Given the description of an element on the screen output the (x, y) to click on. 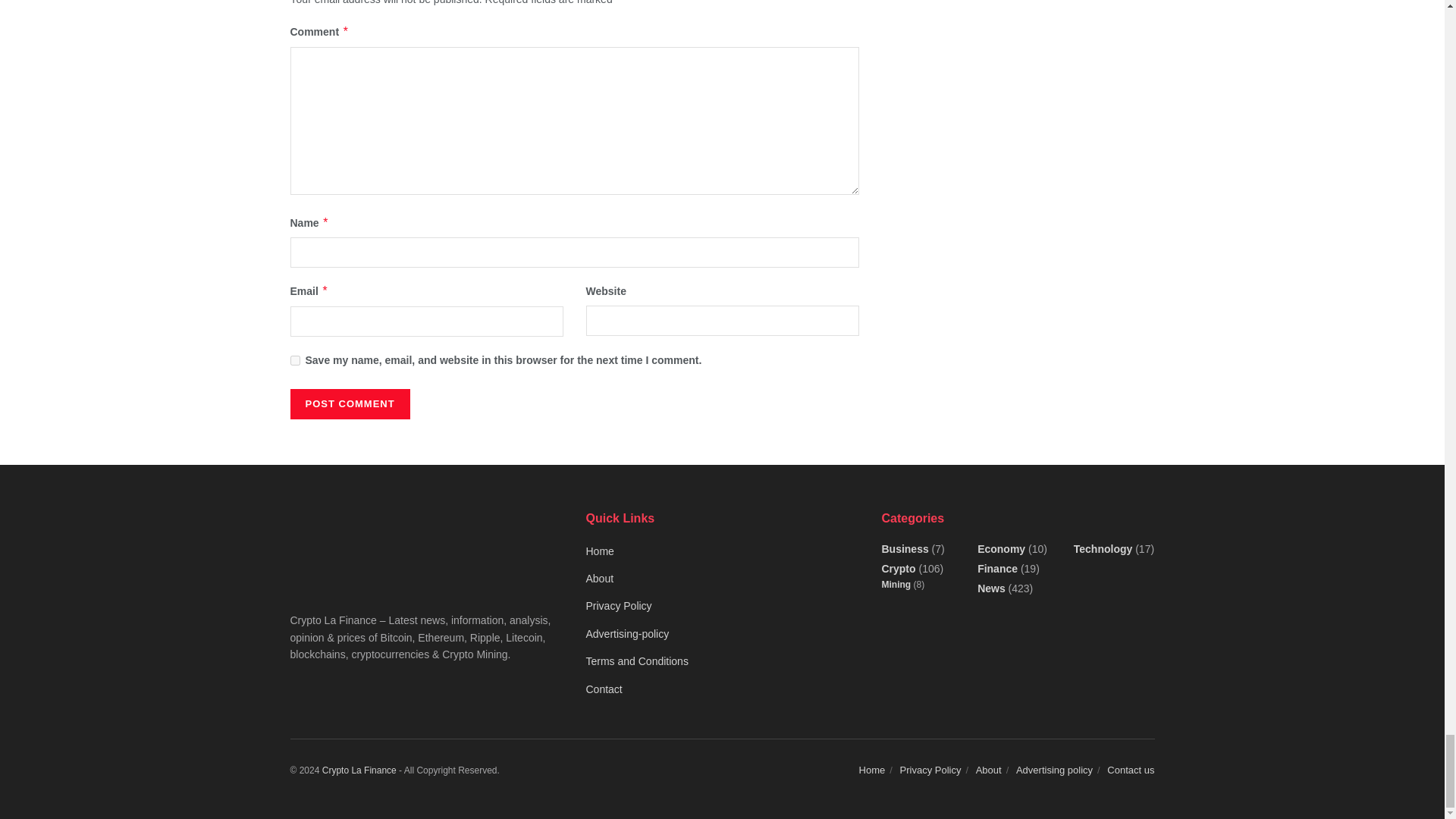
Crypto La Finance (358, 769)
yes (294, 360)
Post Comment (349, 404)
